Given the description of an element on the screen output the (x, y) to click on. 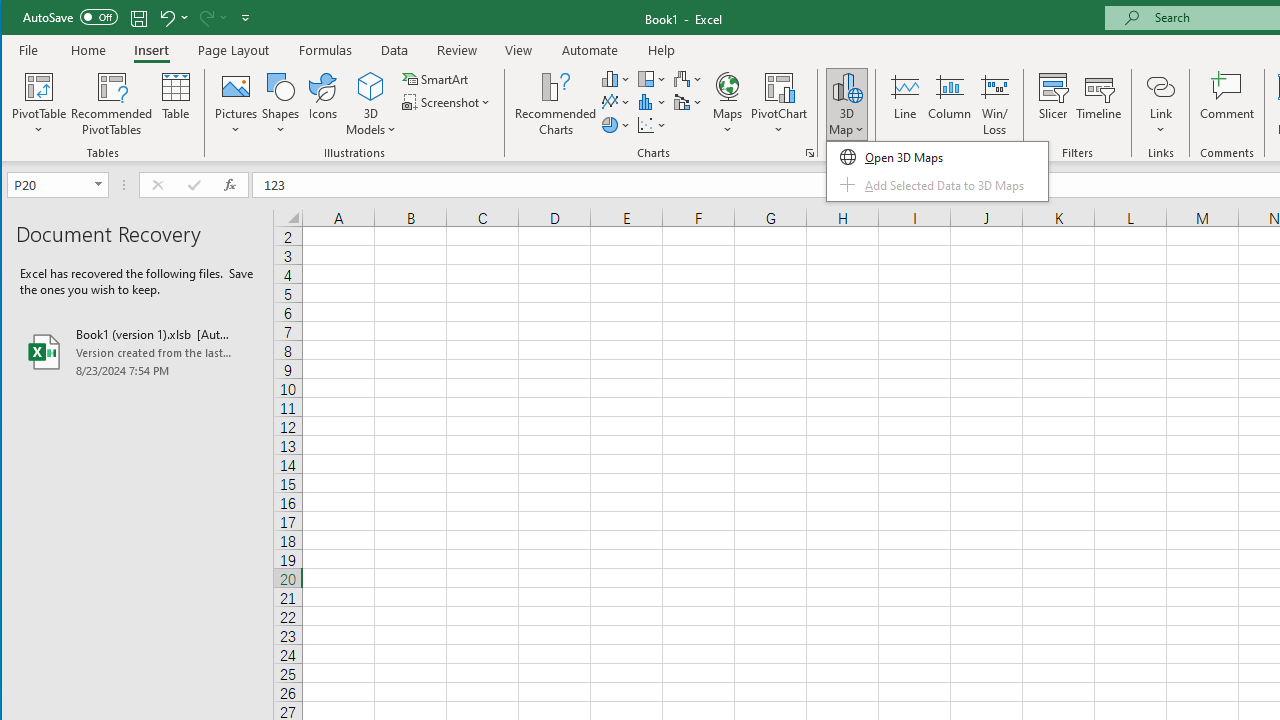
3D Models (371, 86)
3D Map (846, 86)
3D Models (371, 104)
Link (1160, 104)
3D Map (846, 104)
Insert Combo Chart (688, 101)
Line (904, 104)
PivotChart (779, 104)
Timeline (1098, 104)
Insert Pie or Doughnut Chart (616, 124)
